Given the description of an element on the screen output the (x, y) to click on. 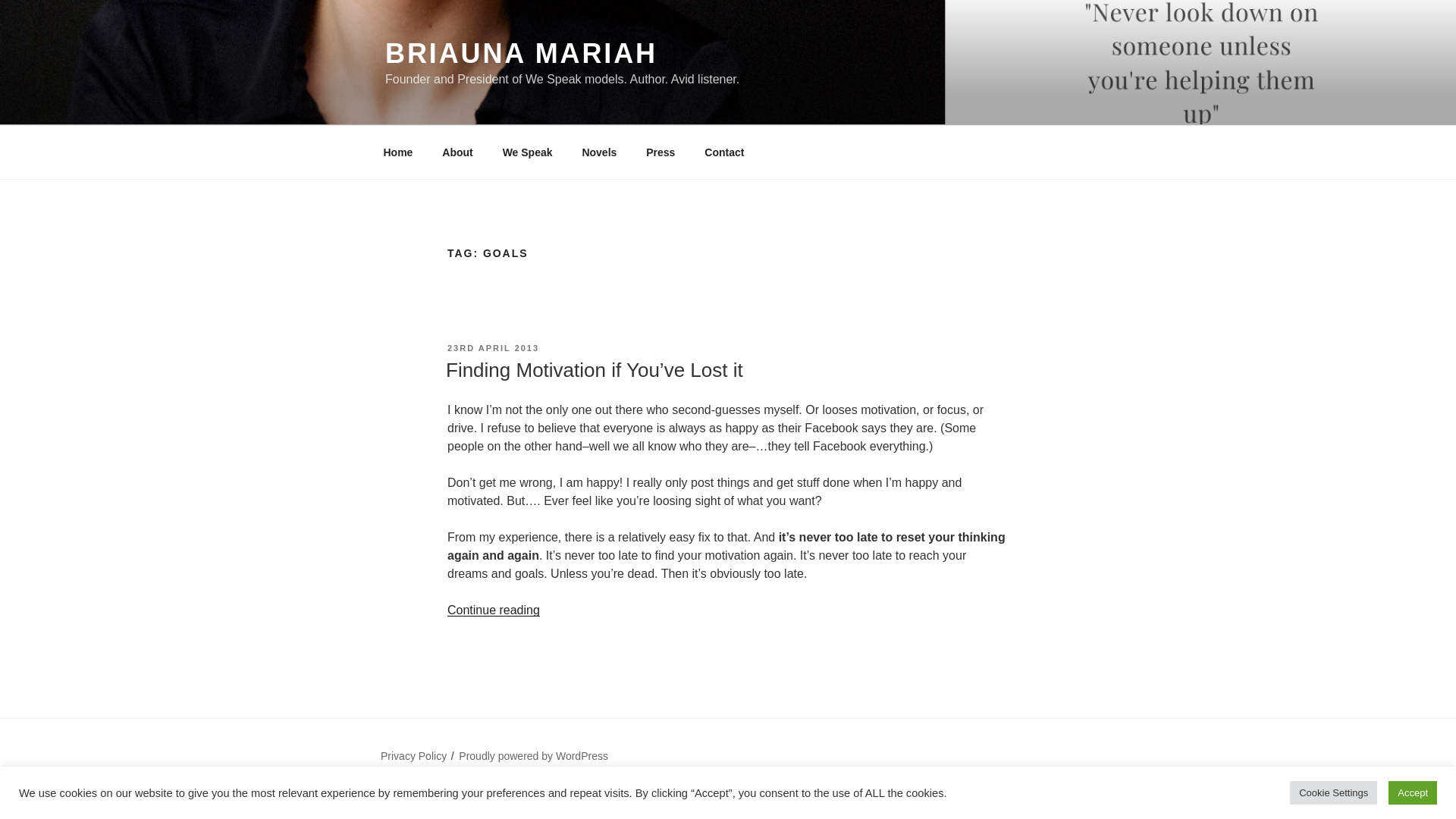
Proudly powered by WordPress (533, 756)
Contact (724, 151)
We Speak (527, 151)
About (457, 151)
23RD APRIL 2013 (492, 347)
Home (397, 151)
Press (660, 151)
BRIAUNA MARIAH (521, 52)
Privacy Policy (413, 756)
Novels (599, 151)
